Given the description of an element on the screen output the (x, y) to click on. 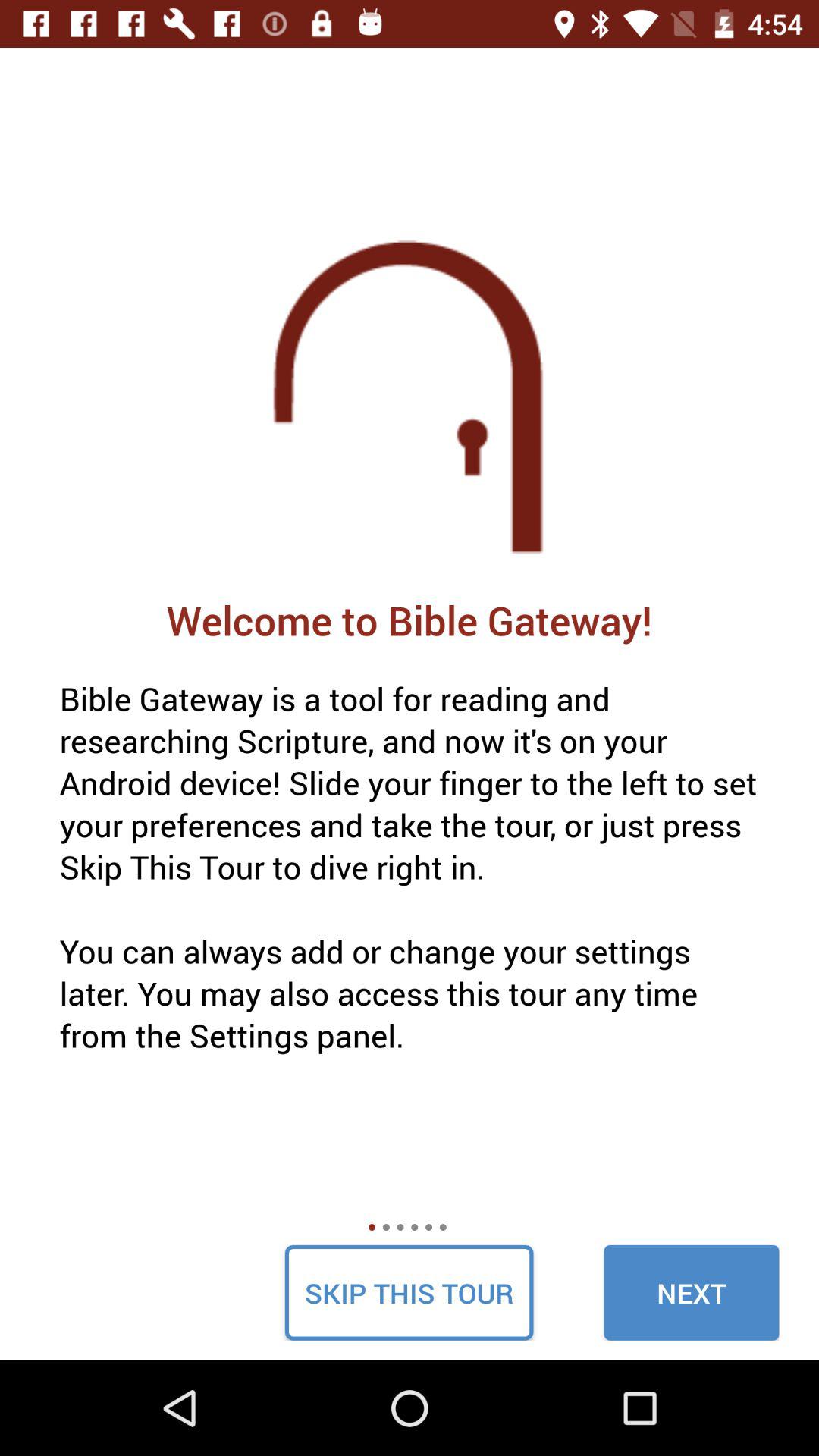
choose icon below the bible gateway is (691, 1292)
